Given the description of an element on the screen output the (x, y) to click on. 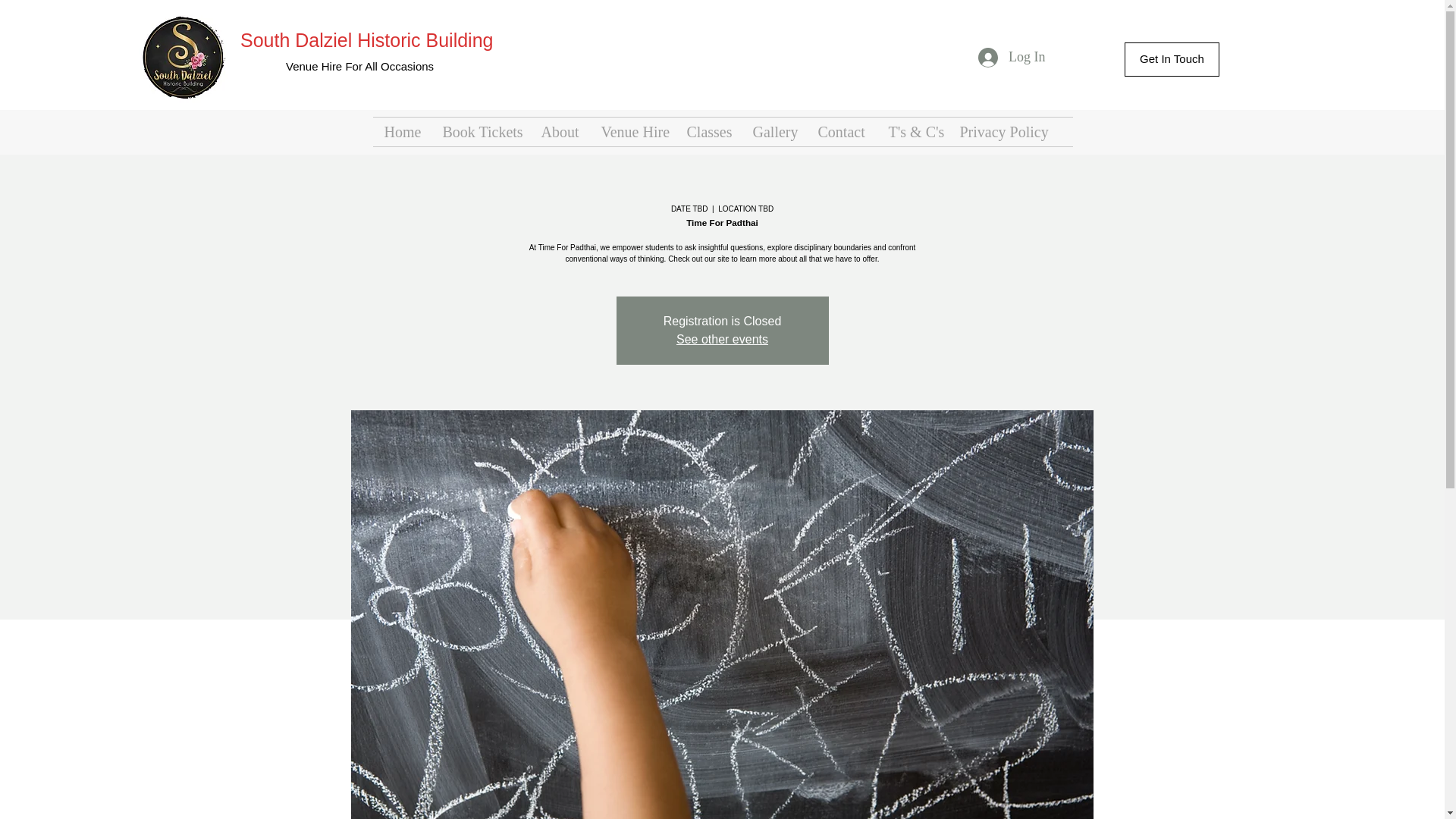
About (559, 131)
Privacy Policy (1000, 131)
Home (401, 131)
Get In Touch (1172, 59)
Log In (1012, 57)
Book Tickets (479, 131)
South Dalziel Historic Building (366, 39)
Classes (708, 131)
Gallery (773, 131)
See other events (722, 338)
Venue Hire (632, 131)
Contact (841, 131)
